Given the description of an element on the screen output the (x, y) to click on. 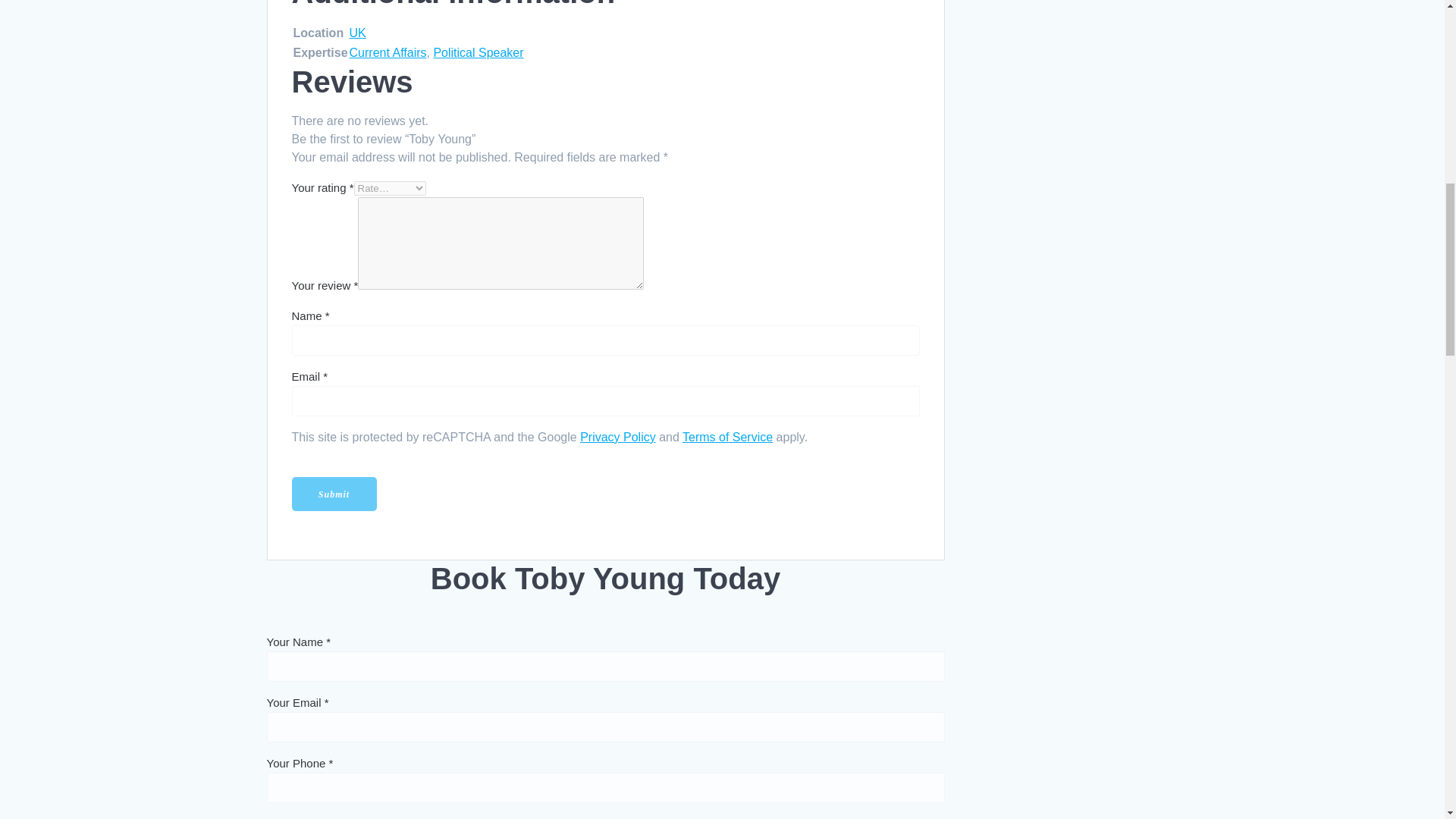
Submit (333, 493)
